Given the description of an element on the screen output the (x, y) to click on. 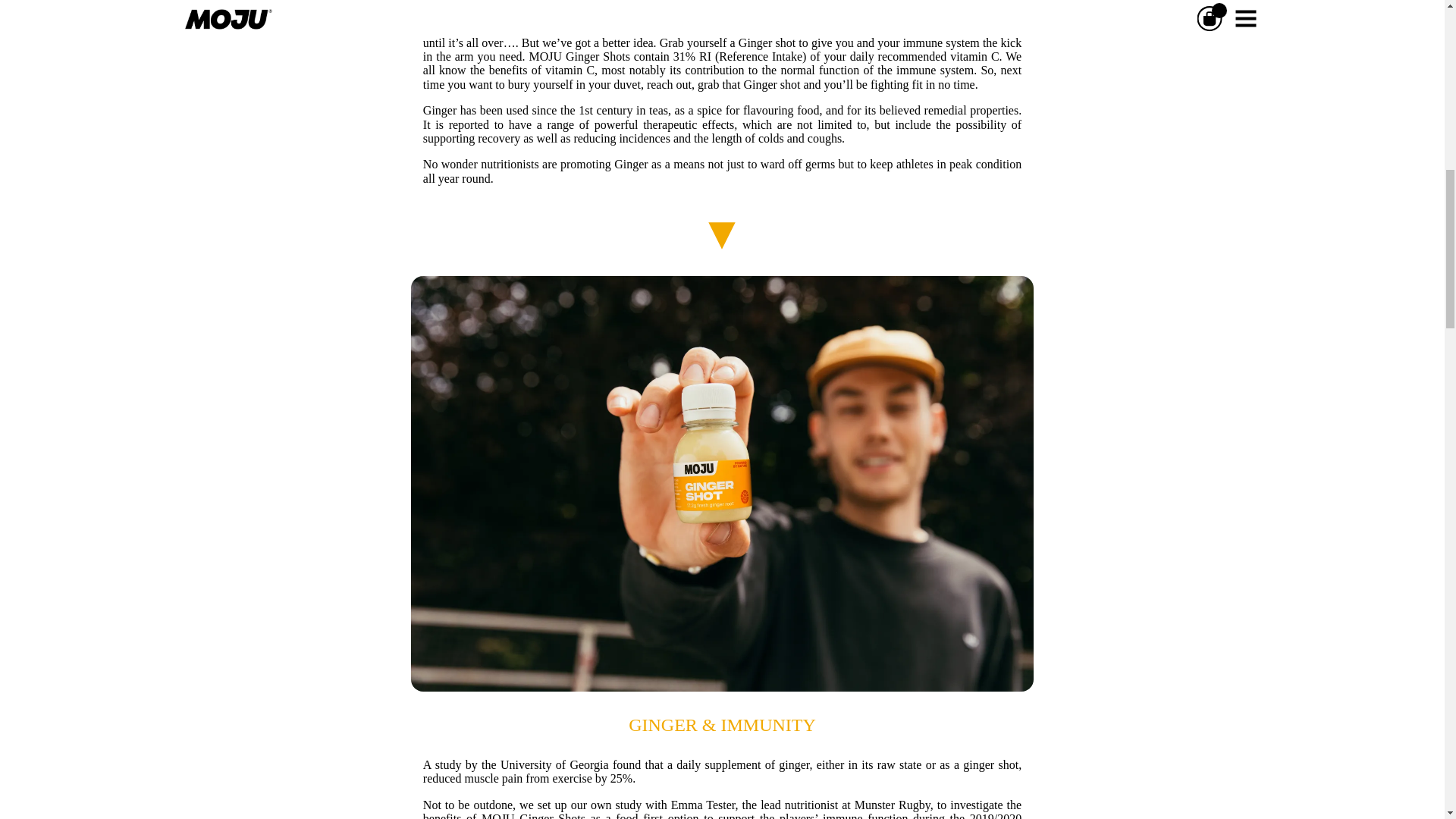
Ginger (440, 110)
Ginger shot (766, 42)
Ginger (630, 164)
MOJU Ginger Shots (578, 56)
MOJU Ginger Shots (533, 815)
Ginger shot (770, 83)
coughs (824, 137)
